Given the description of an element on the screen output the (x, y) to click on. 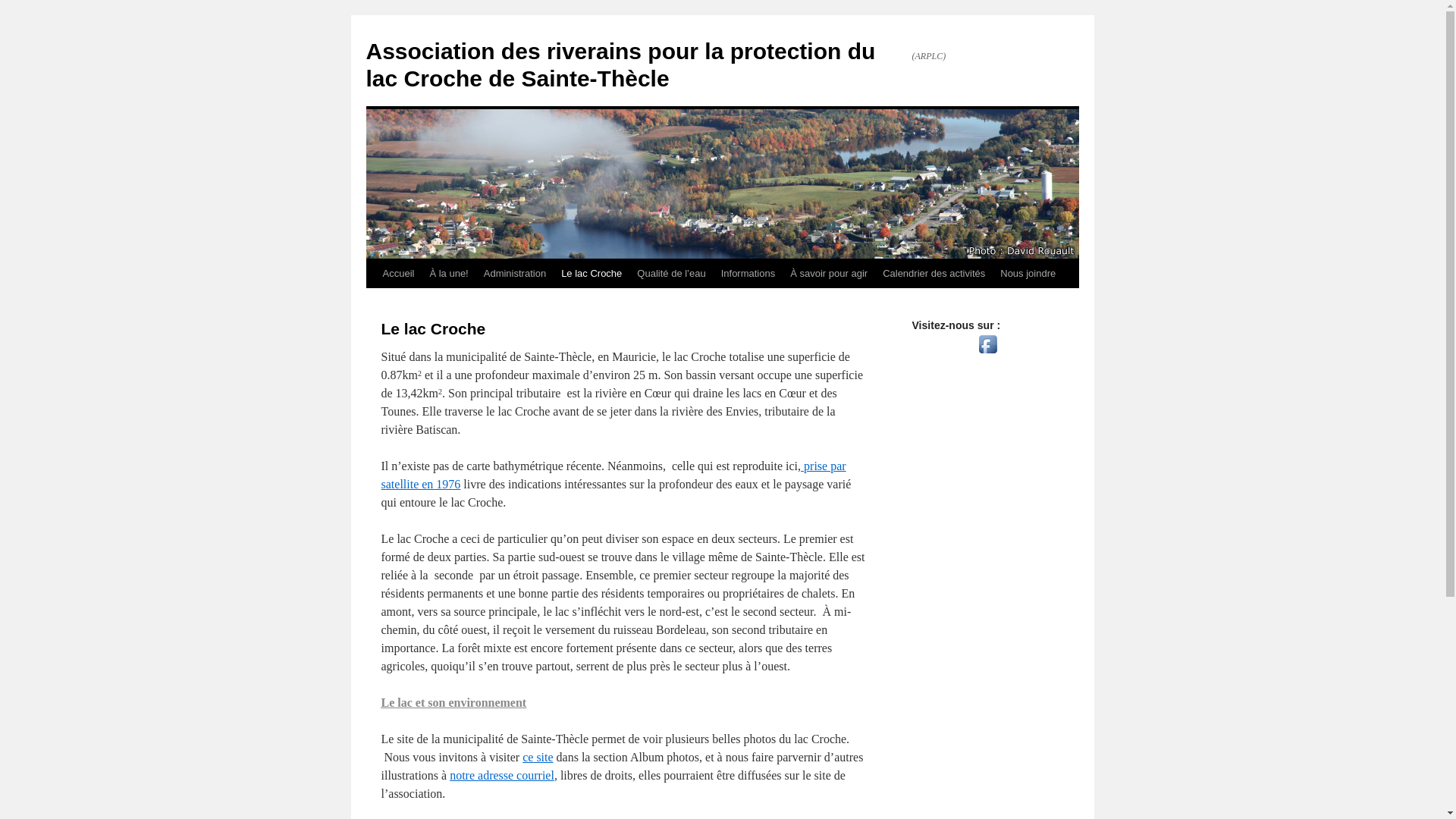
notre adresse courriel Element type: text (501, 774)
Accueil Element type: text (397, 273)
Aller au contenu Element type: text (372, 301)
Administration Element type: text (514, 273)
Visit Us On Facebook Element type: hover (987, 353)
Nous joindre Element type: text (1027, 273)
Informations Element type: text (748, 273)
prise par satellite en 1976 Element type: text (612, 474)
ce site Element type: text (537, 756)
Le lac Croche Element type: text (591, 273)
